Given the description of an element on the screen output the (x, y) to click on. 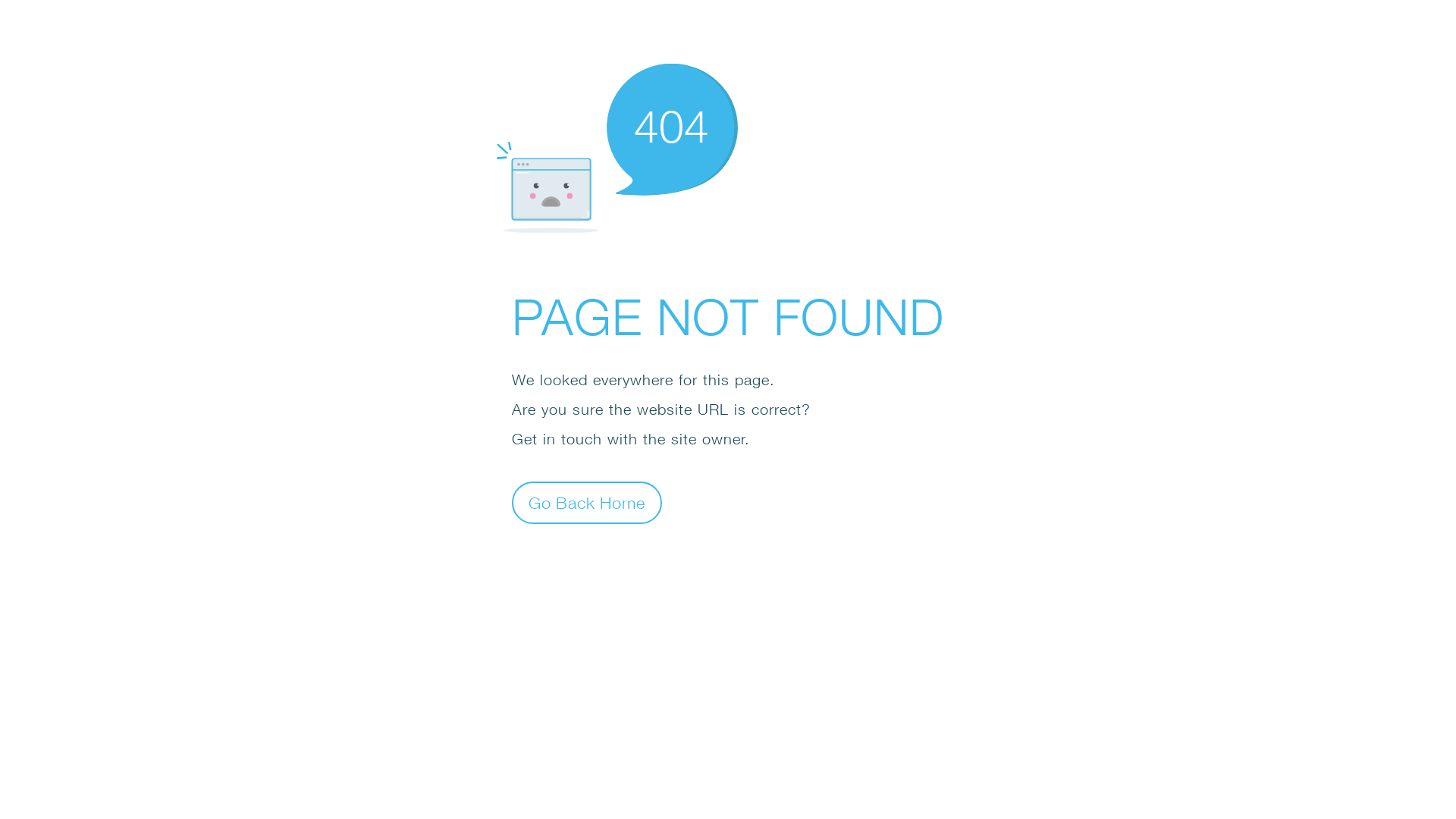
Go Back Home Element type: text (586, 502)
